Given the description of an element on the screen output the (x, y) to click on. 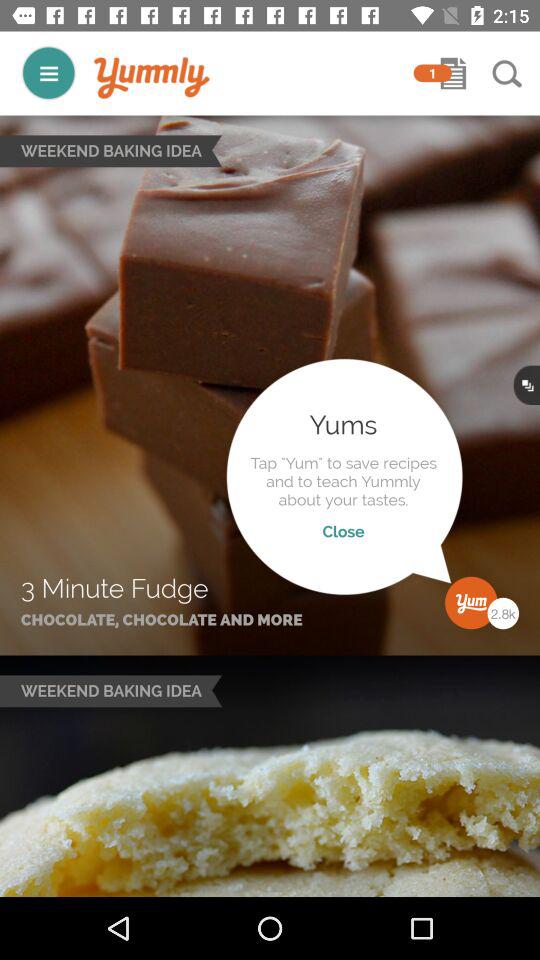
go to setting (48, 72)
